Given the description of an element on the screen output the (x, y) to click on. 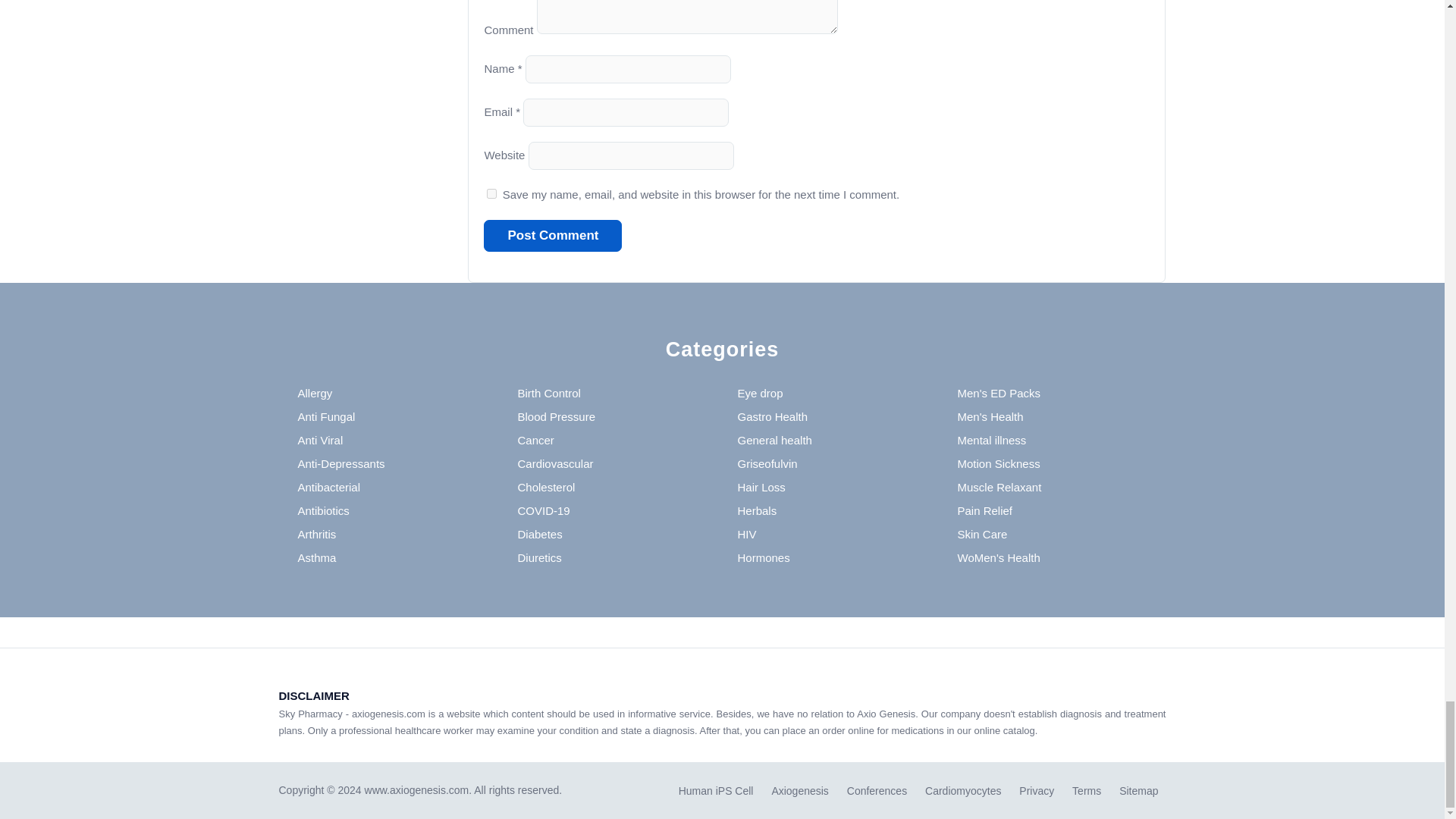
Post Comment (552, 235)
Post Comment (552, 235)
yes (491, 194)
